Given the description of an element on the screen output the (x, y) to click on. 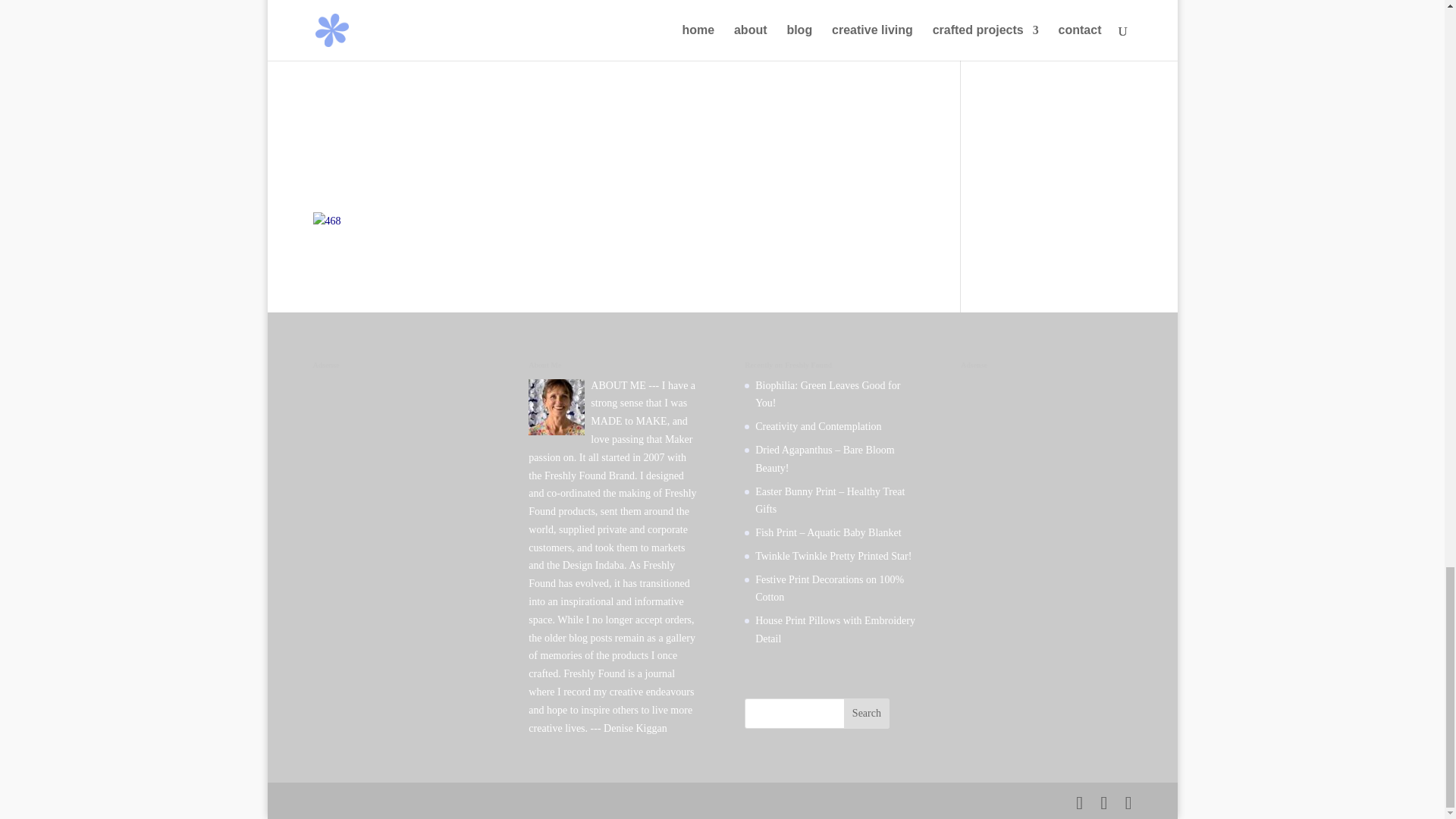
Search (866, 713)
Biophilia: Green Leaves Good for You! (827, 394)
